Given the description of an element on the screen output the (x, y) to click on. 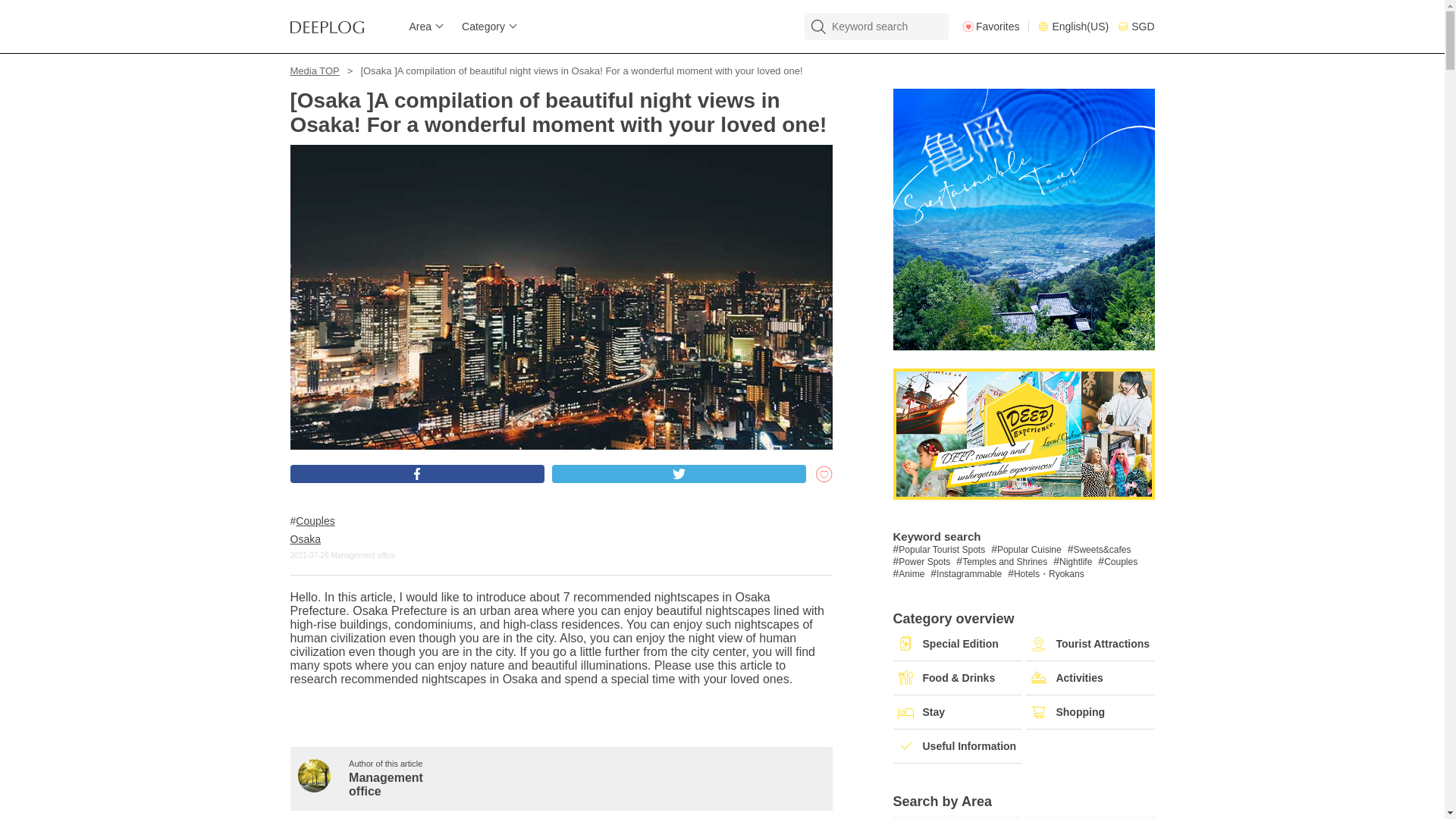
Favorites (995, 26)
SGD (1136, 26)
Area (420, 26)
Category (483, 26)
